Given the description of an element on the screen output the (x, y) to click on. 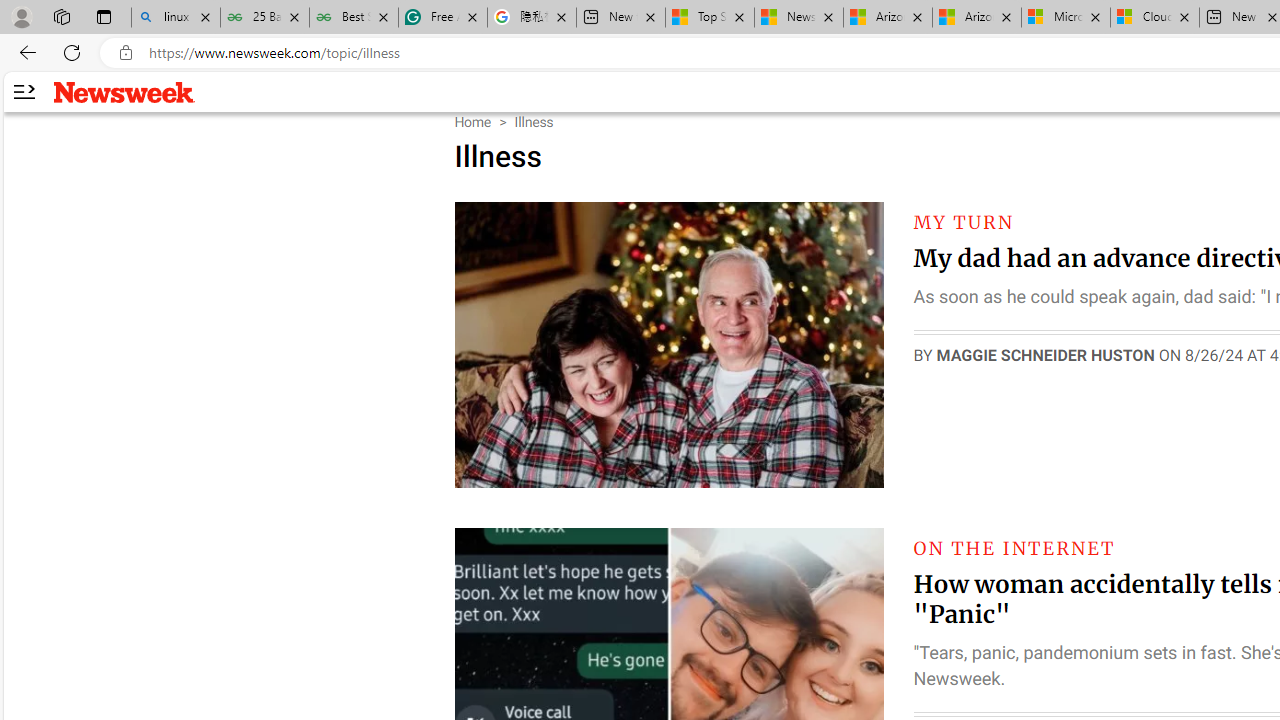
linux basic - Search (175, 17)
MY TURN (963, 222)
Free AI Writing Assistance for Students | Grammarly (443, 17)
25 Basic Linux Commands For Beginners - GeeksforGeeks (264, 17)
Newsweek logo (123, 91)
